Given the description of an element on the screen output the (x, y) to click on. 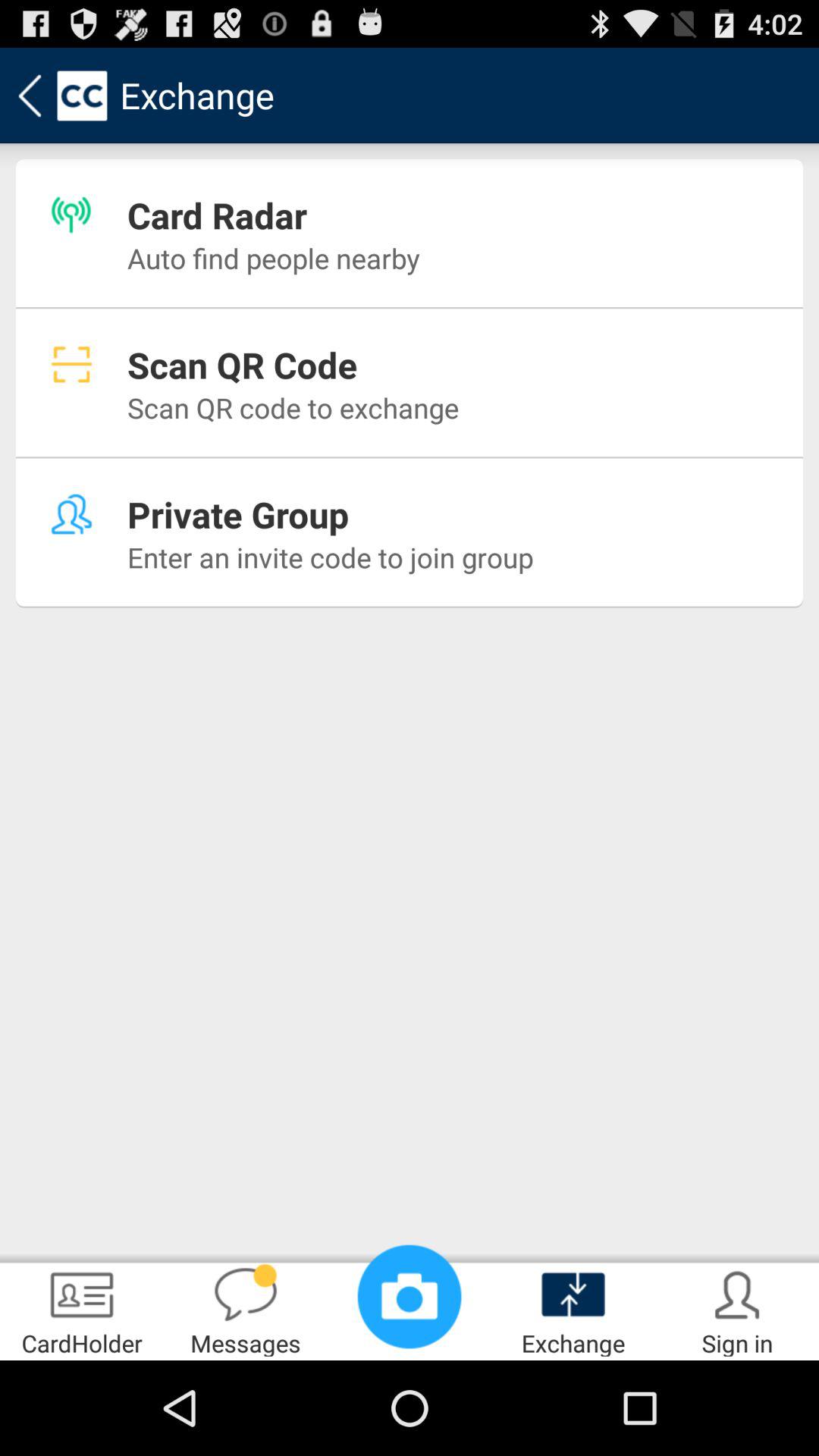
select item at the bottom (409, 1296)
